Given the description of an element on the screen output the (x, y) to click on. 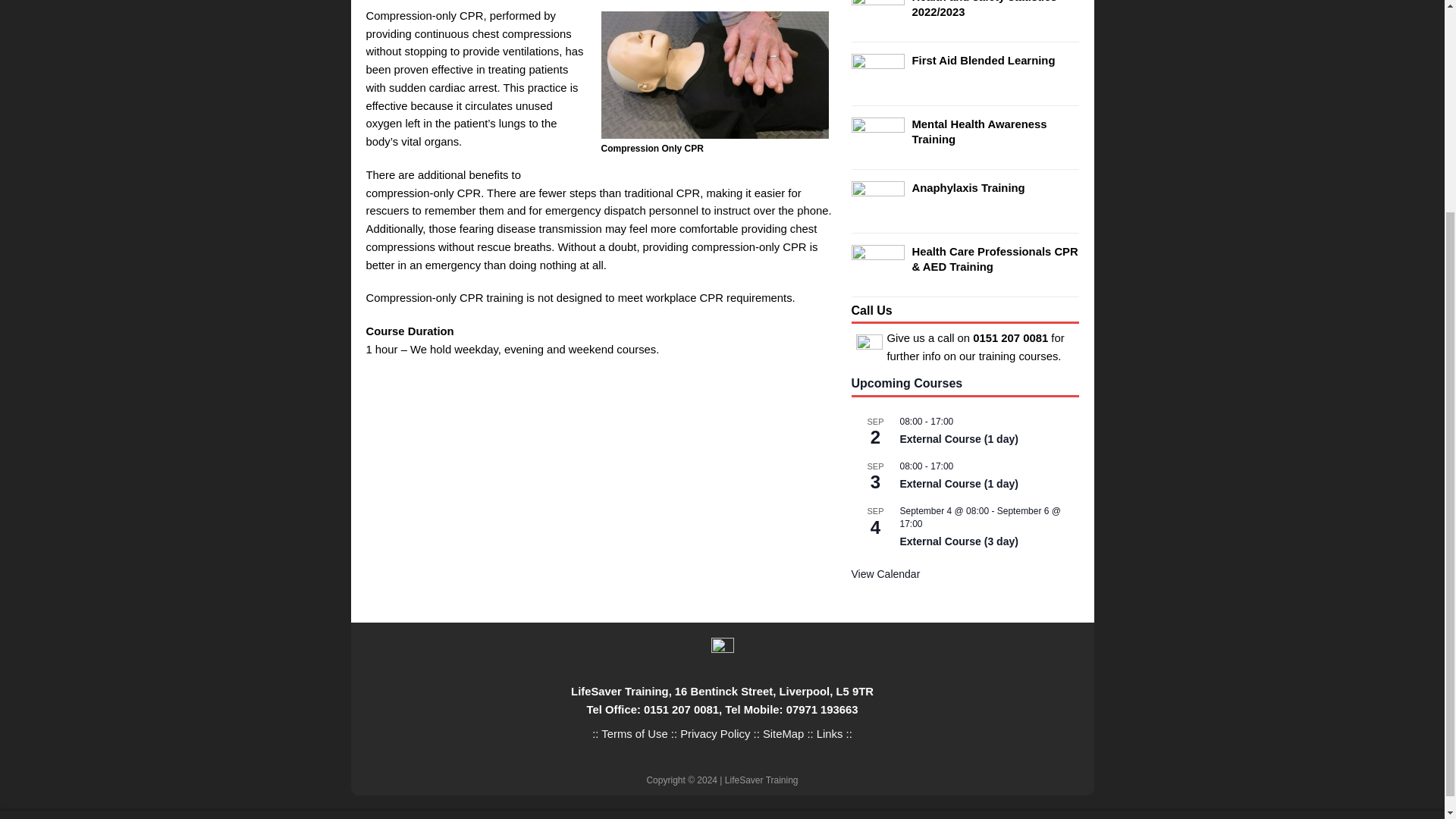
Mental Health Awareness Training (978, 130)
Mental Health Awareness Training (877, 149)
Compression Only CPR (713, 74)
Anaphylaxis Training (877, 213)
View more events. (885, 574)
First Aid Blended Learning (877, 85)
First Aid Blended Learning (982, 60)
Anaphylaxis Training (968, 187)
